Given the description of an element on the screen output the (x, y) to click on. 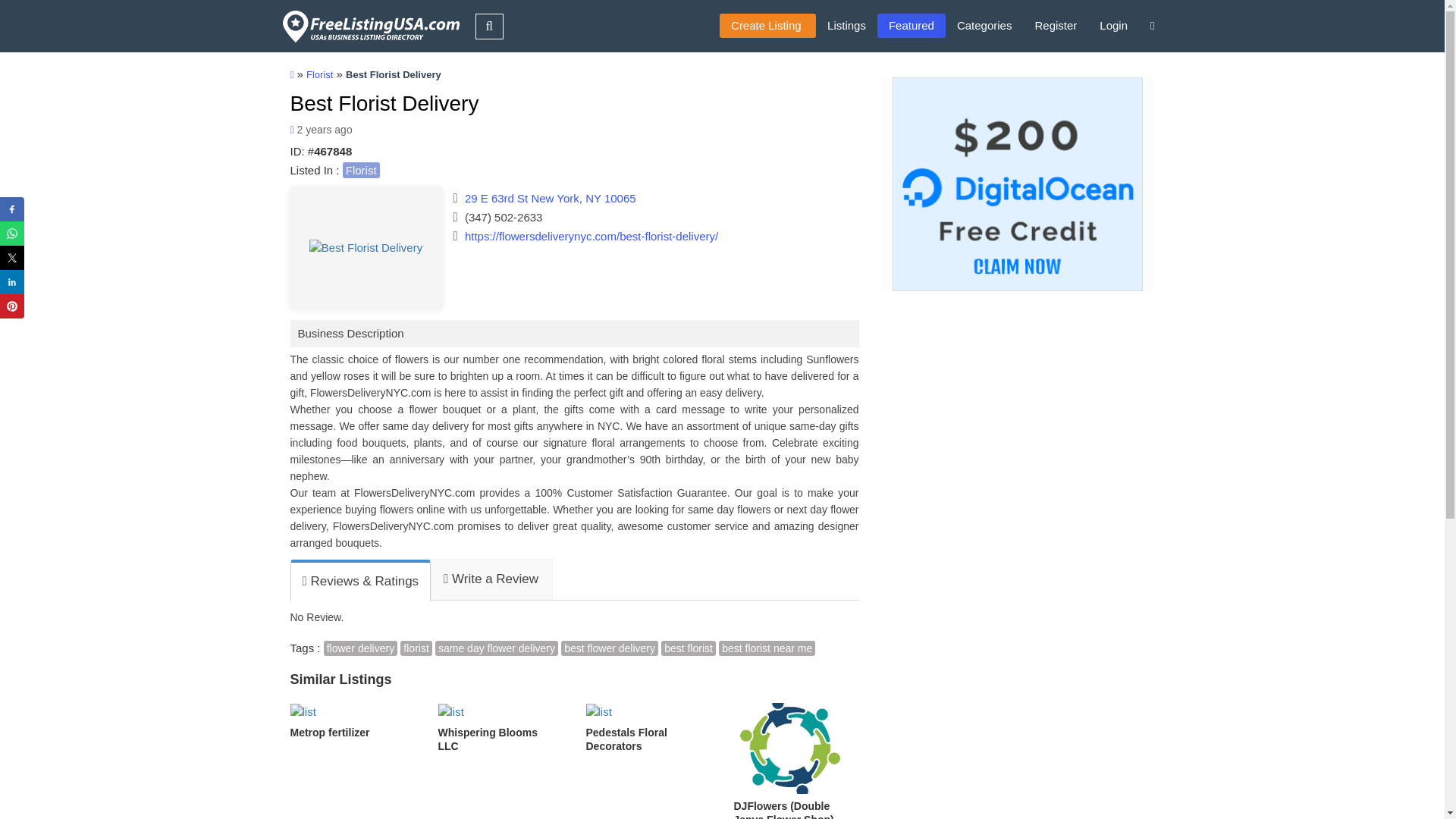
Featured (910, 25)
best flower delivery (609, 648)
Metrop fertilizer (351, 720)
29 E 63rd St New York, NY 10065 (550, 197)
Whispering Blooms LLC (500, 727)
same day flower delivery (496, 648)
best florist near me (767, 648)
List your business for free (767, 25)
Create Listing (767, 25)
flower delivery (360, 648)
Best Florist Delivery (365, 247)
Florist (361, 170)
best florist (688, 648)
Register (1055, 25)
Login (1112, 25)
